Given the description of an element on the screen output the (x, y) to click on. 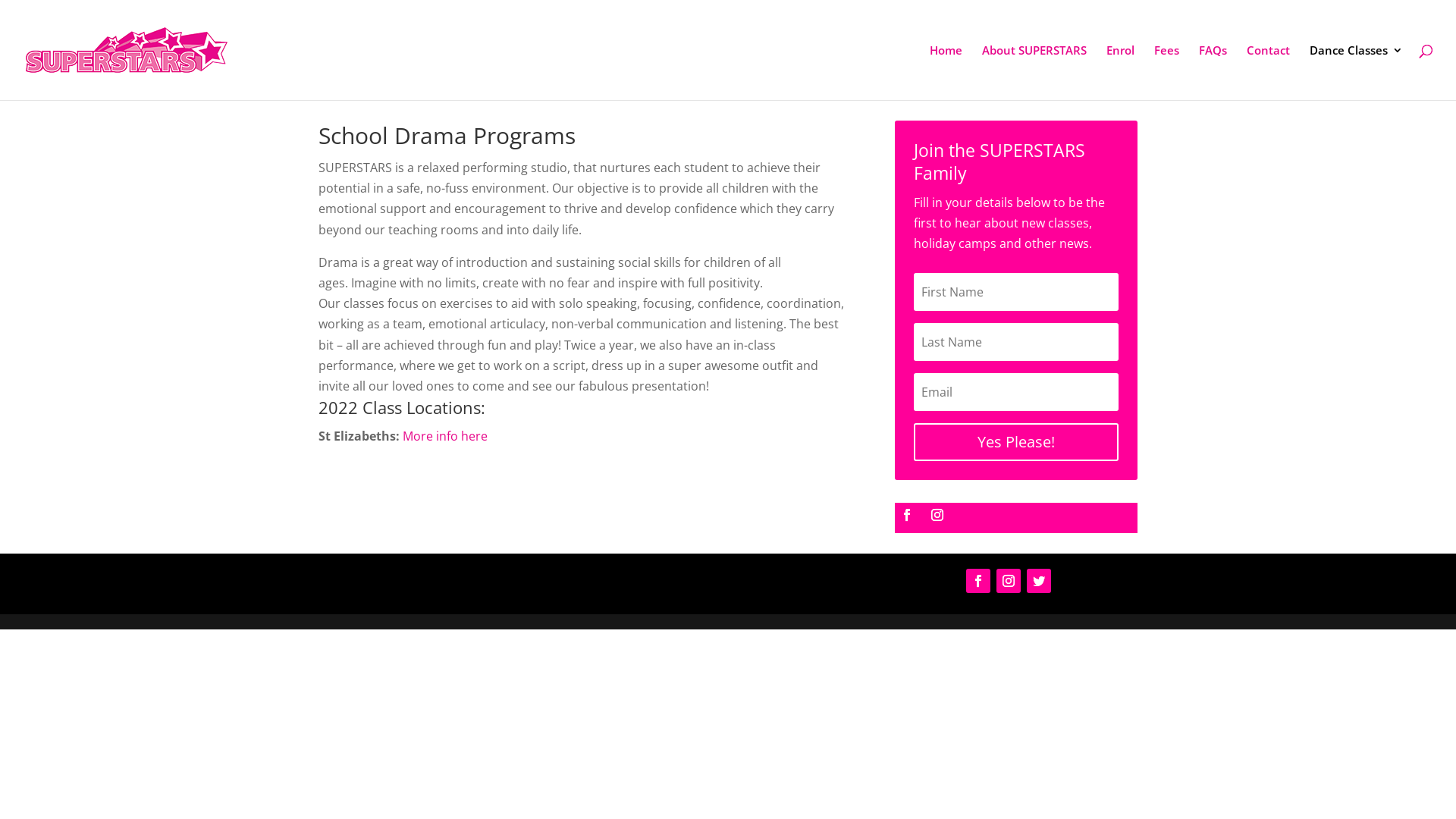
Follow on Instagram Element type: hover (1008, 580)
Enrol Element type: text (1120, 72)
FAQs Element type: text (1212, 72)
Fees Element type: text (1166, 72)
More info here Element type: text (443, 435)
Follow on Twitter Element type: hover (1038, 580)
Contact Element type: text (1267, 72)
Follow on Facebook Element type: hover (978, 580)
Dance Classes Element type: text (1355, 72)
Follow on Facebook Element type: hover (906, 514)
Follow on Instagram Element type: hover (937, 514)
Yes Please! Element type: text (1015, 442)
Home Element type: text (945, 72)
About SUPERSTARS Element type: text (1034, 72)
